Given the description of an element on the screen output the (x, y) to click on. 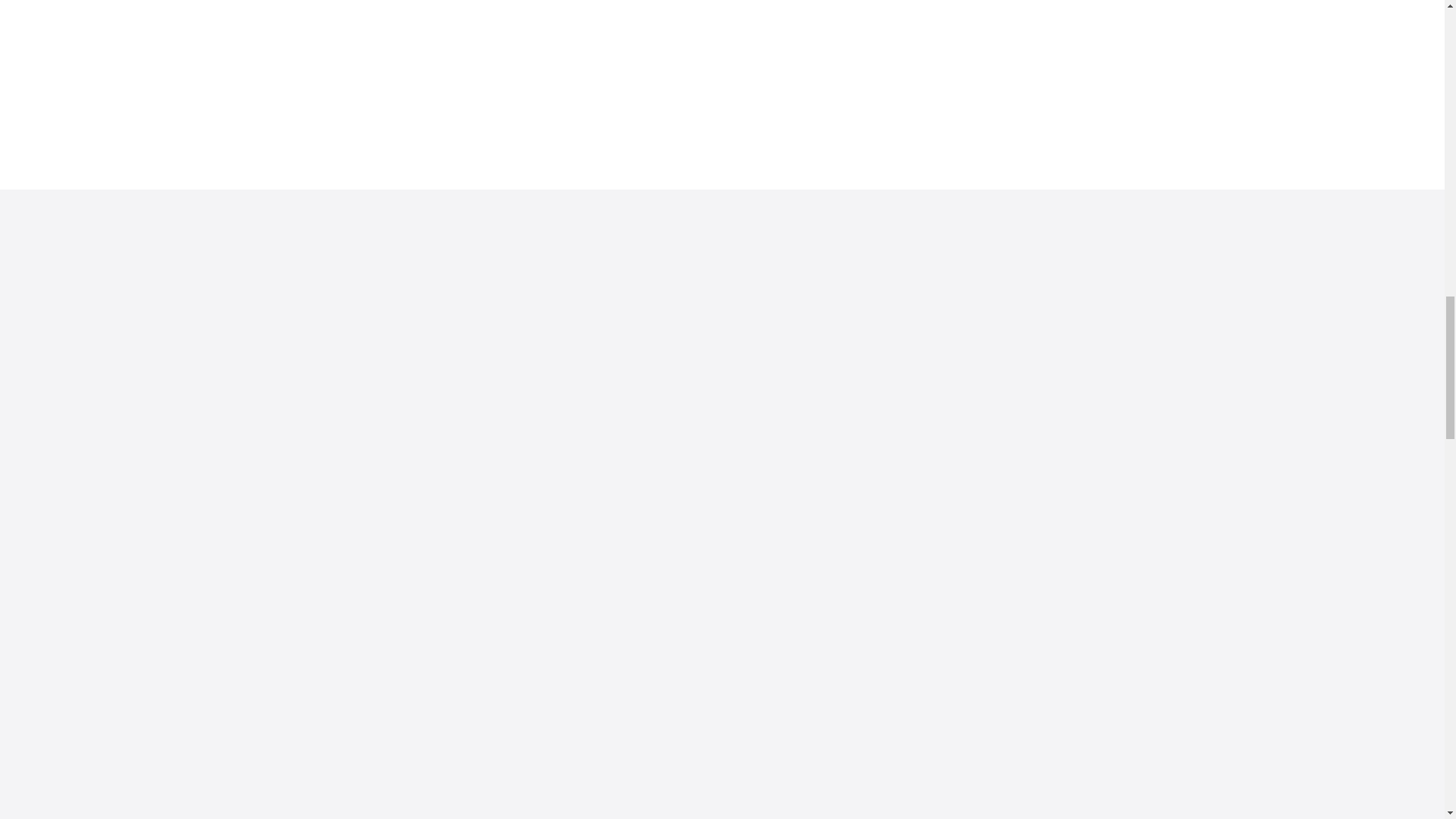
Jerry Arbs Photography (972, 20)
